Given the description of an element on the screen output the (x, y) to click on. 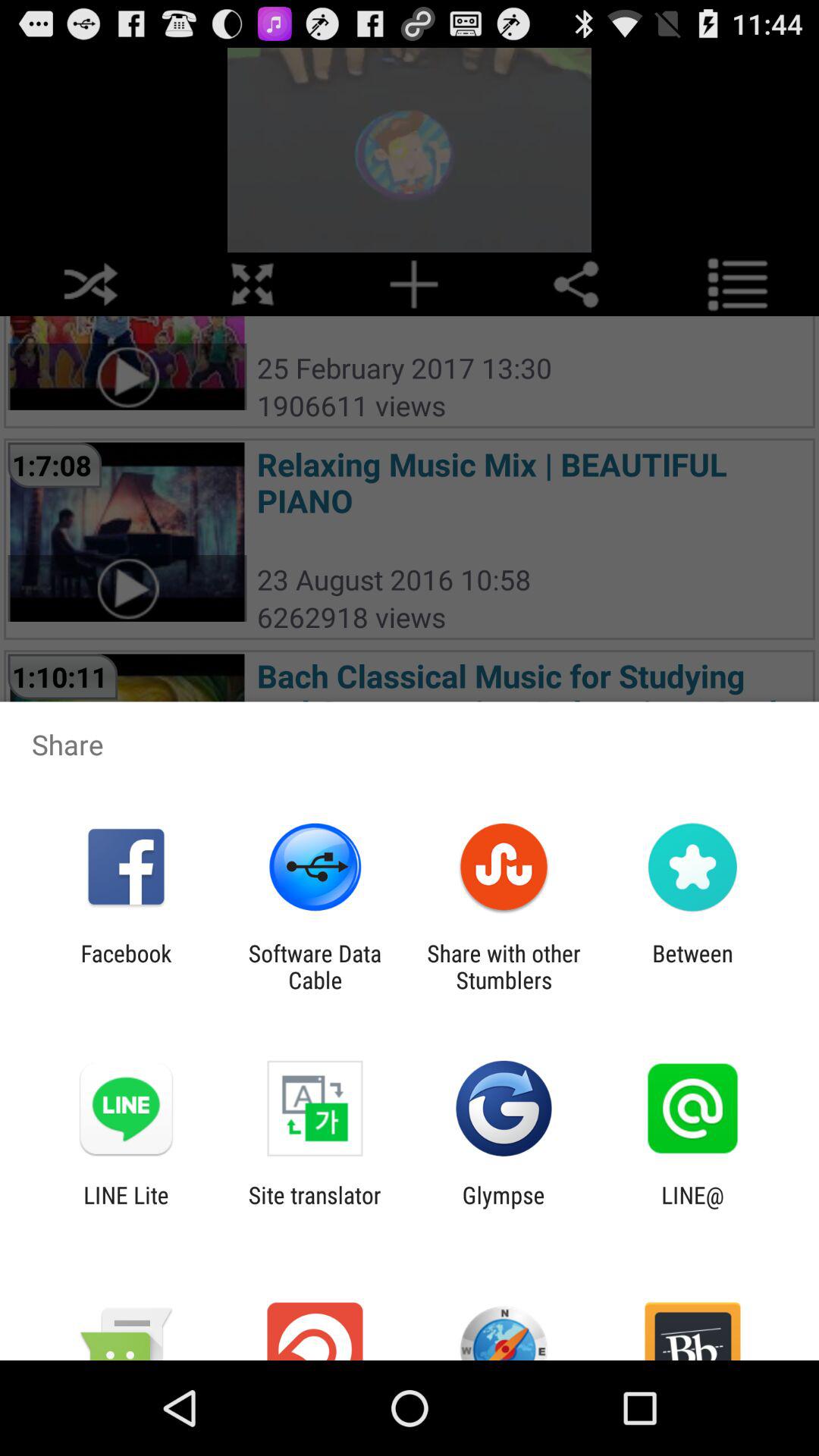
press the item to the right of the site translator app (503, 1208)
